Given the description of an element on the screen output the (x, y) to click on. 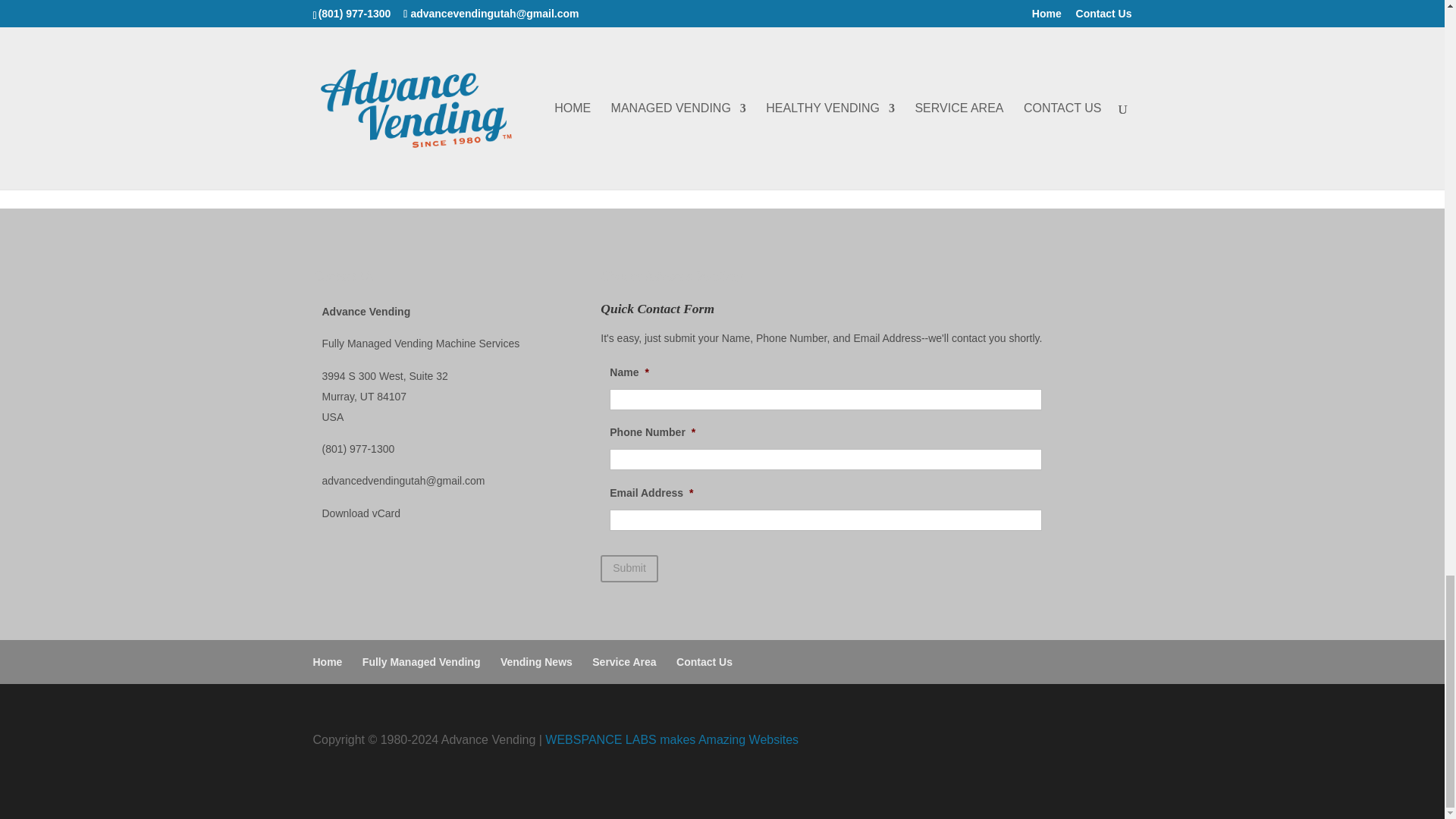
logged in (407, 115)
Submit (628, 568)
